Given the description of an element on the screen output the (x, y) to click on. 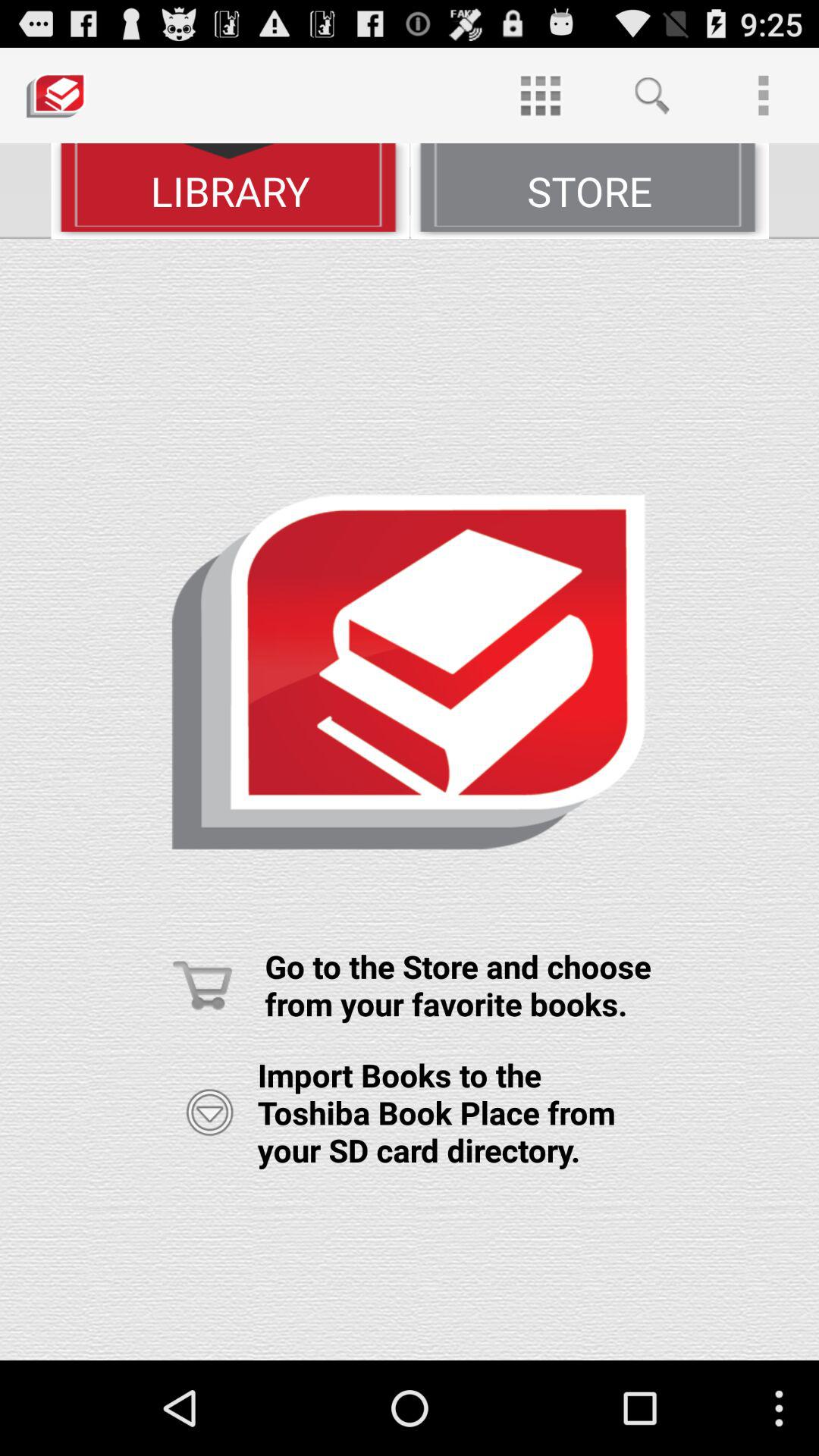
select option (209, 1112)
